Given the description of an element on the screen output the (x, y) to click on. 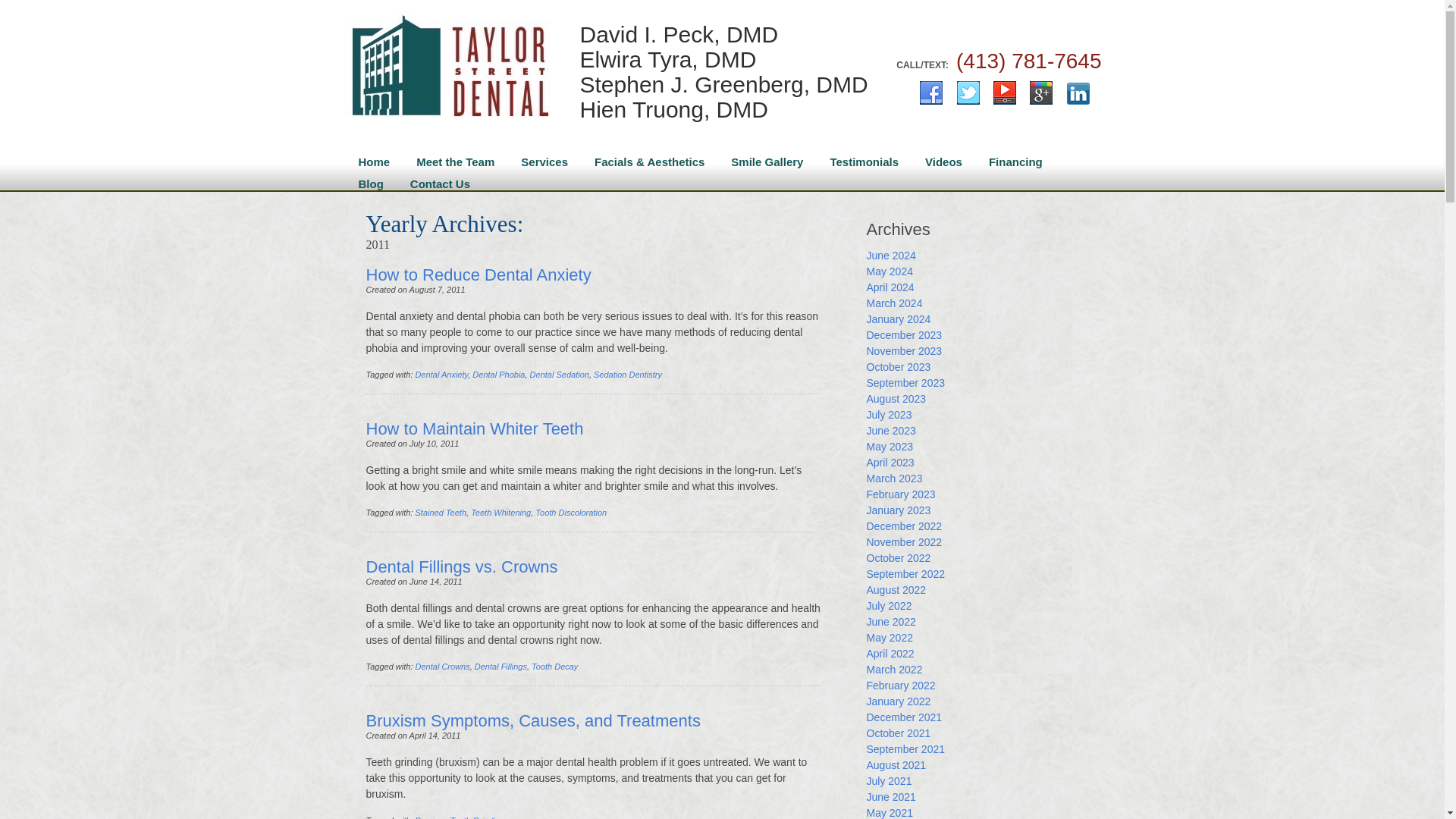
David I. Peck, DMD (723, 34)
Stephen J. Greenberg, DMD (723, 84)
Home (371, 158)
Meet the Team (453, 158)
Services (542, 158)
David I. Peck D.M.D (449, 71)
Elwira Tyra, DMD (723, 58)
Hien Truong, DMD (723, 108)
